Given the description of an element on the screen output the (x, y) to click on. 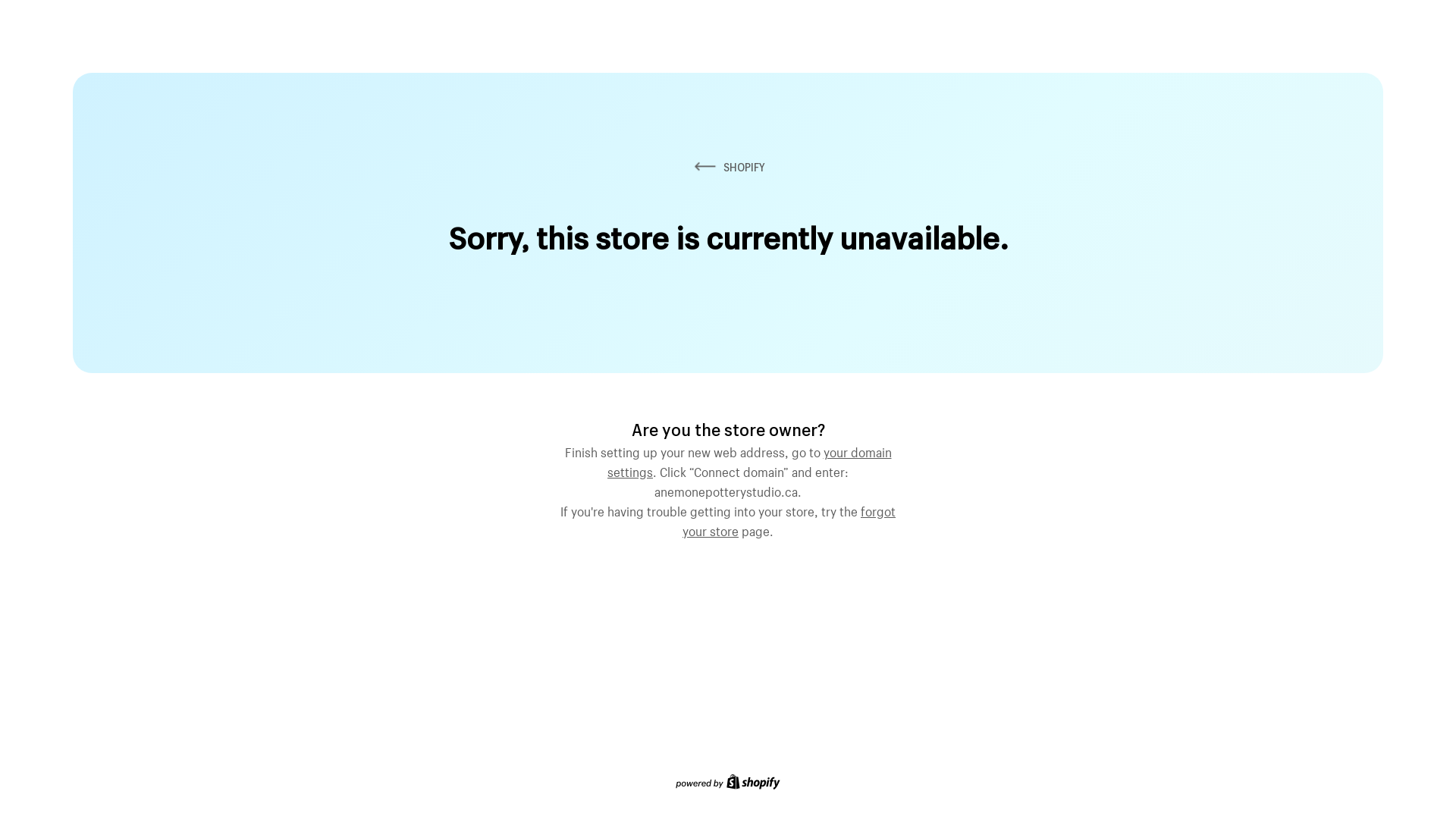
your domain settings Element type: text (749, 460)
forgot your store Element type: text (788, 519)
SHOPIFY Element type: text (727, 167)
